Given the description of an element on the screen output the (x, y) to click on. 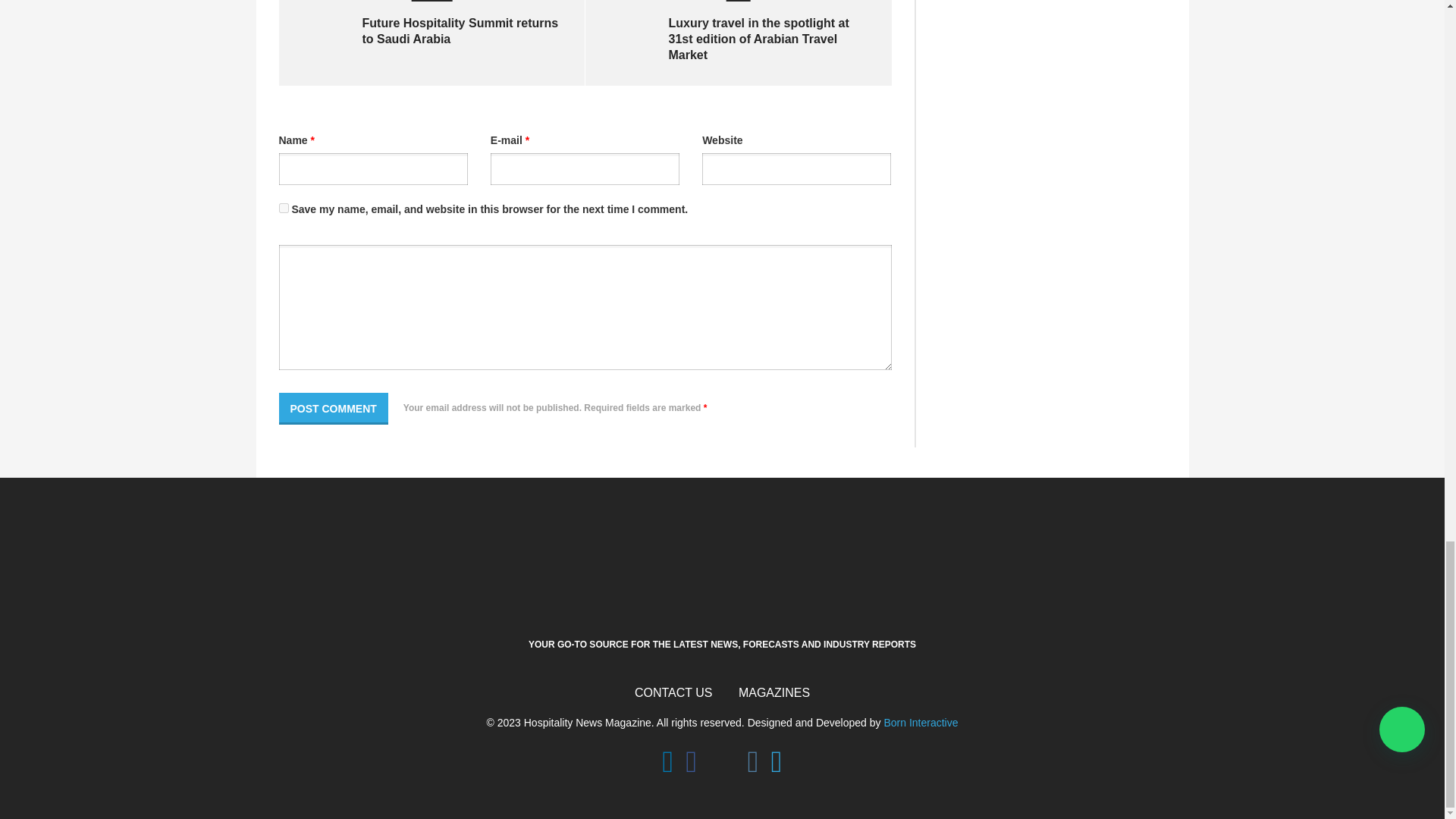
yes (283, 207)
Post comment (333, 409)
